Given the description of an element on the screen output the (x, y) to click on. 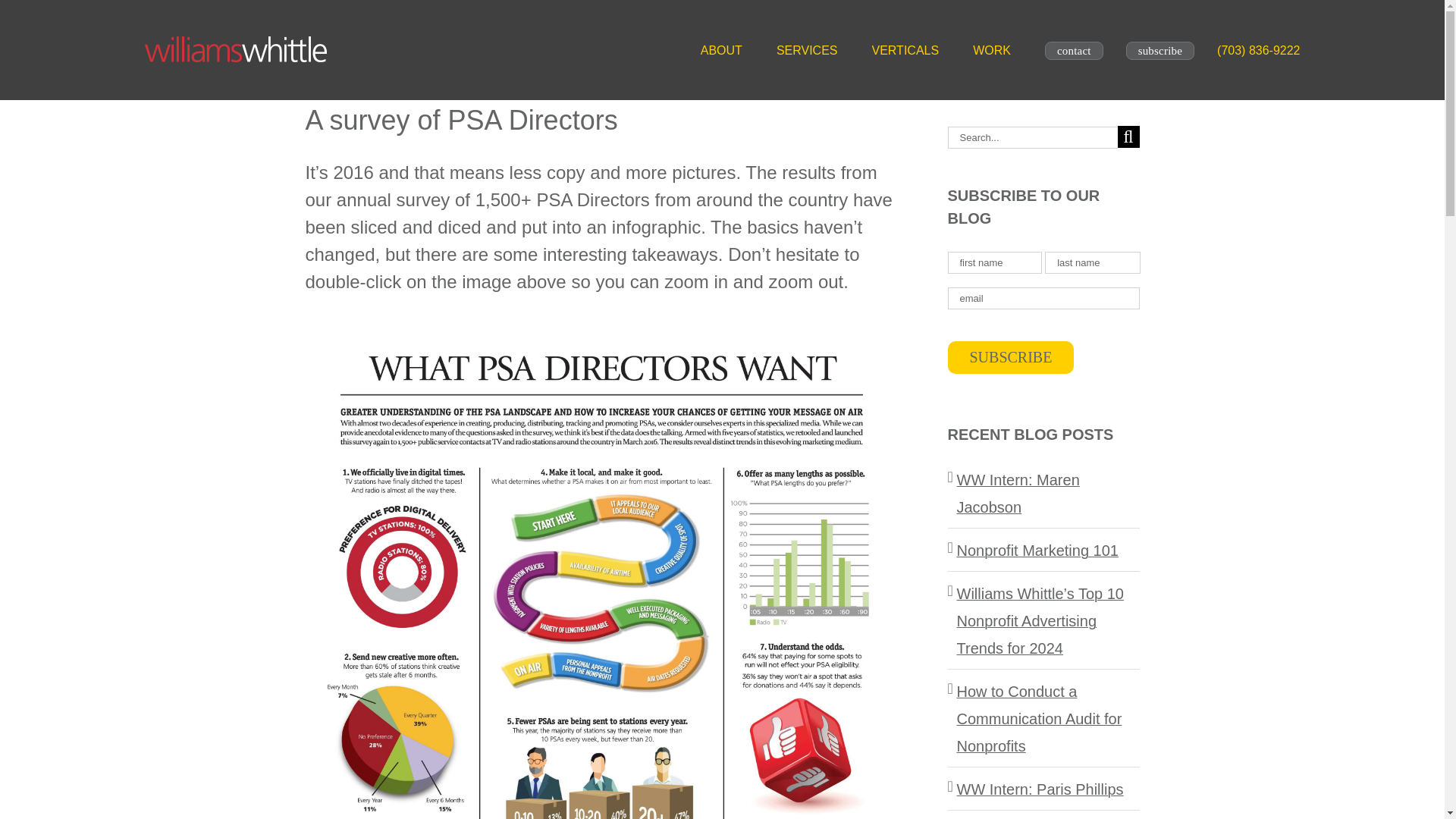
Subscribe (1010, 357)
